Given the description of an element on the screen output the (x, y) to click on. 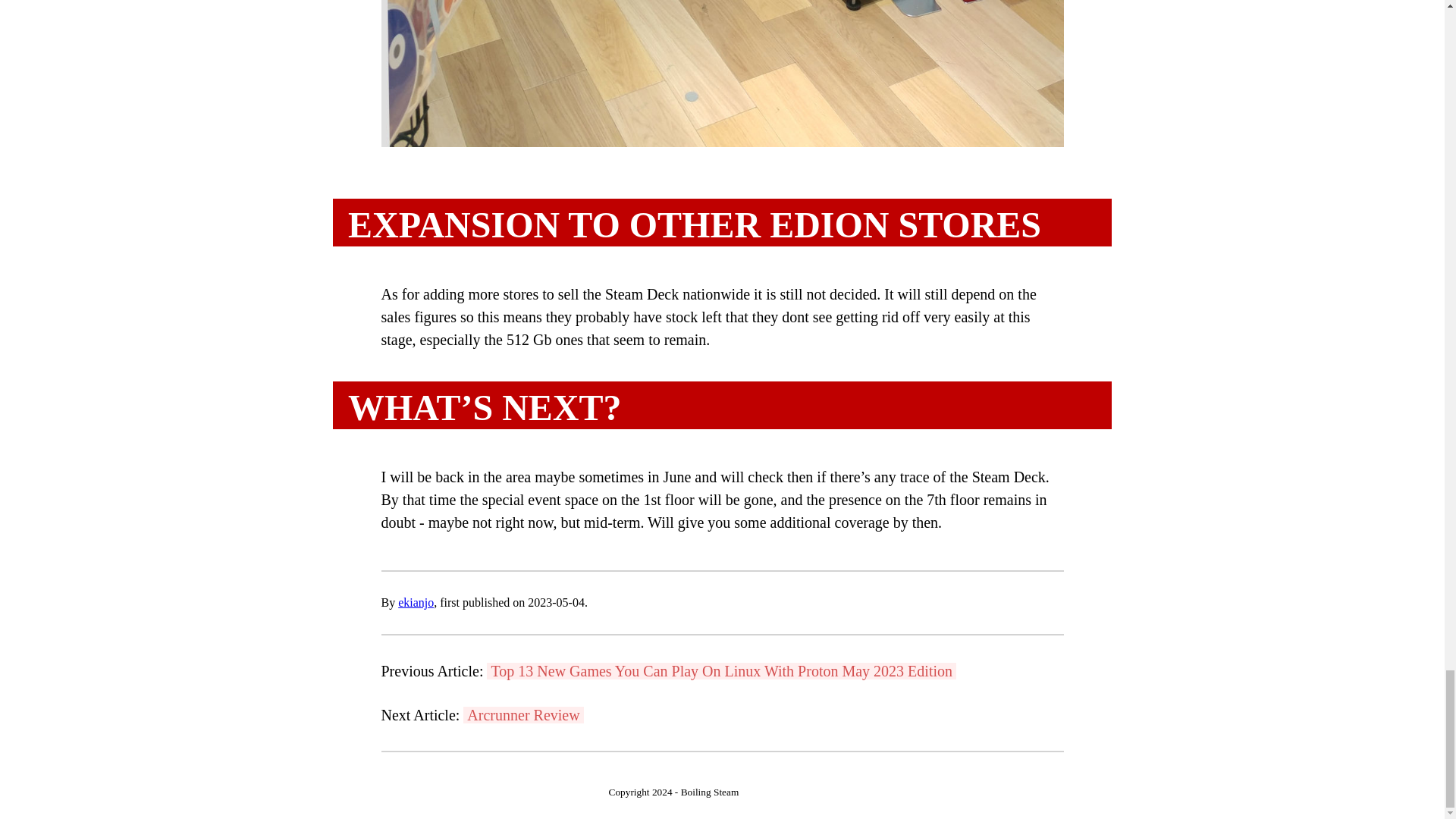
Arcrunner Review (523, 714)
ekianjo (415, 602)
